Given the description of an element on the screen output the (x, y) to click on. 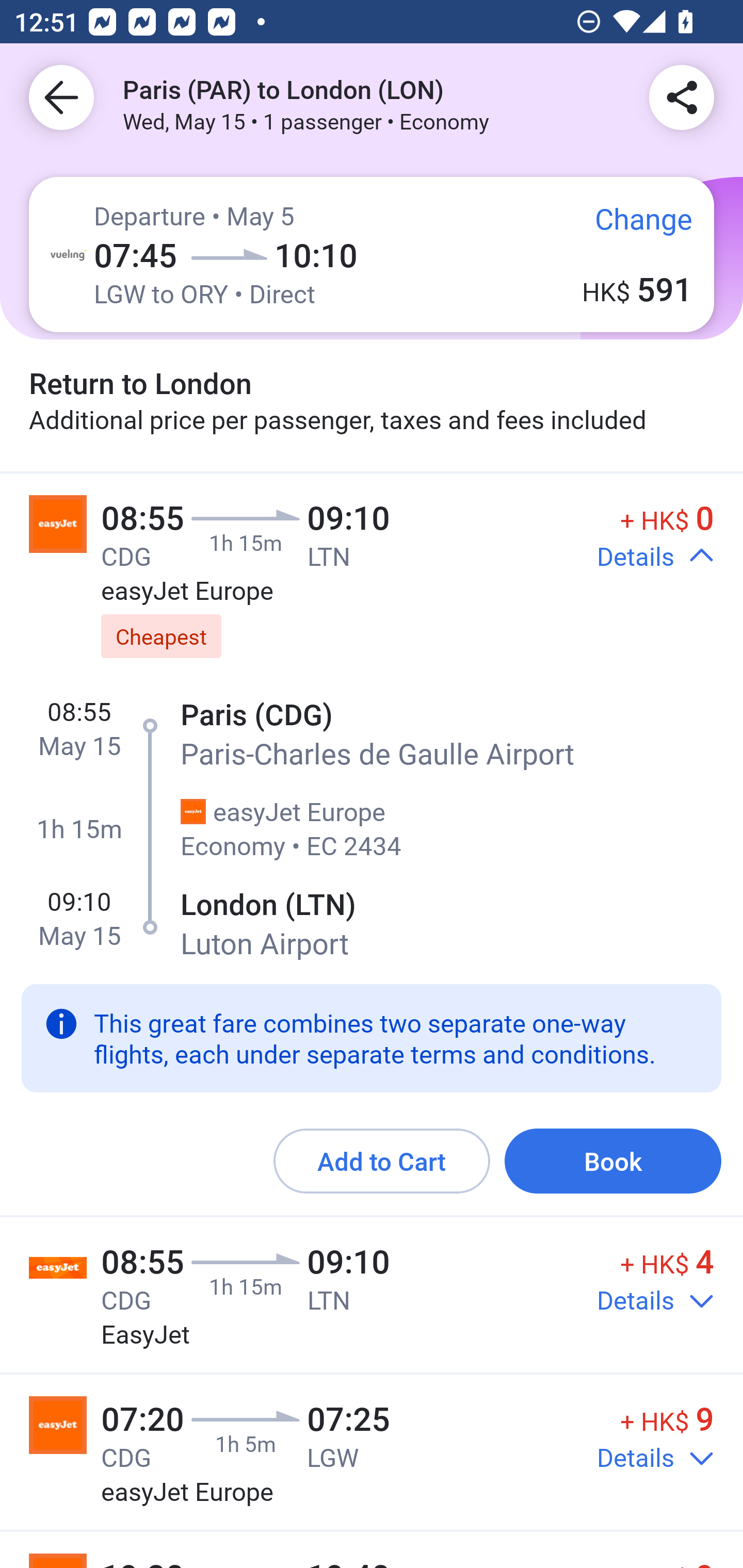
Change (629, 228)
Add to Cart (381, 1160)
Book (612, 1160)
